Given the description of an element on the screen output the (x, y) to click on. 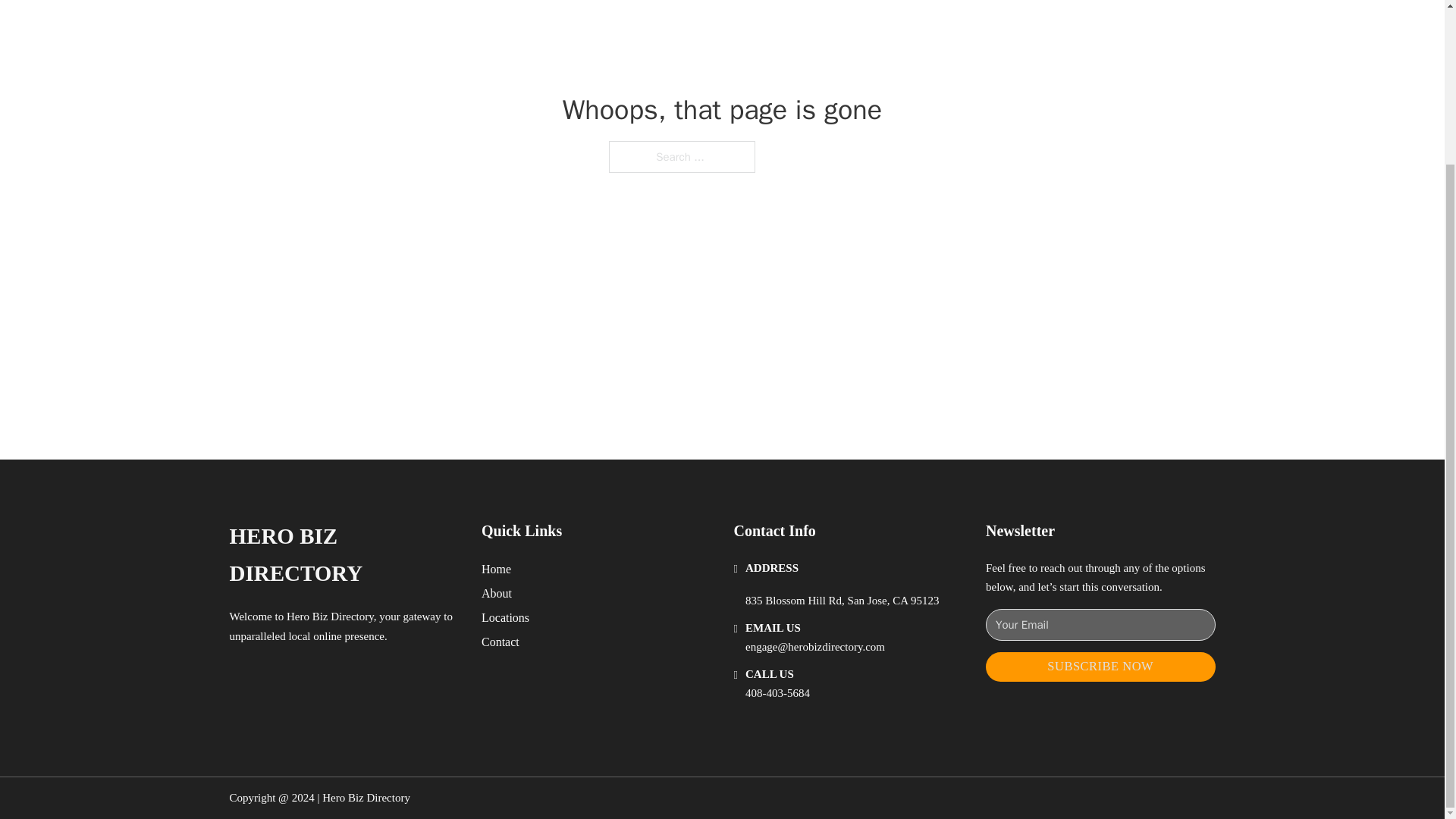
HERO BIZ DIRECTORY (343, 554)
408-403-5684 (777, 693)
About (496, 593)
SUBSCRIBE NOW (1100, 666)
Locations (505, 617)
Contact (500, 641)
Home (496, 568)
